Given the description of an element on the screen output the (x, y) to click on. 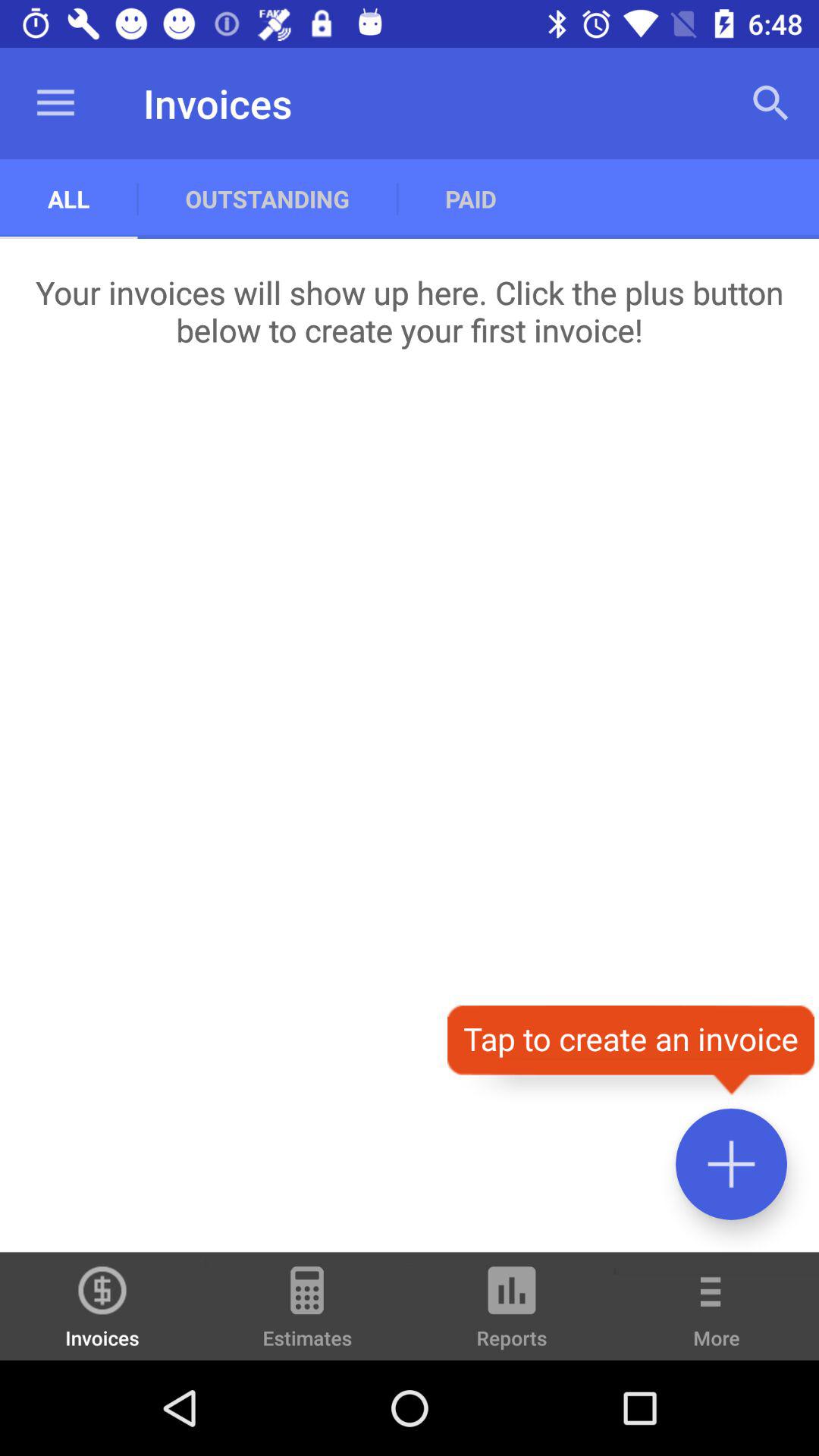
swipe until reports item (511, 1313)
